Given the description of an element on the screen output the (x, y) to click on. 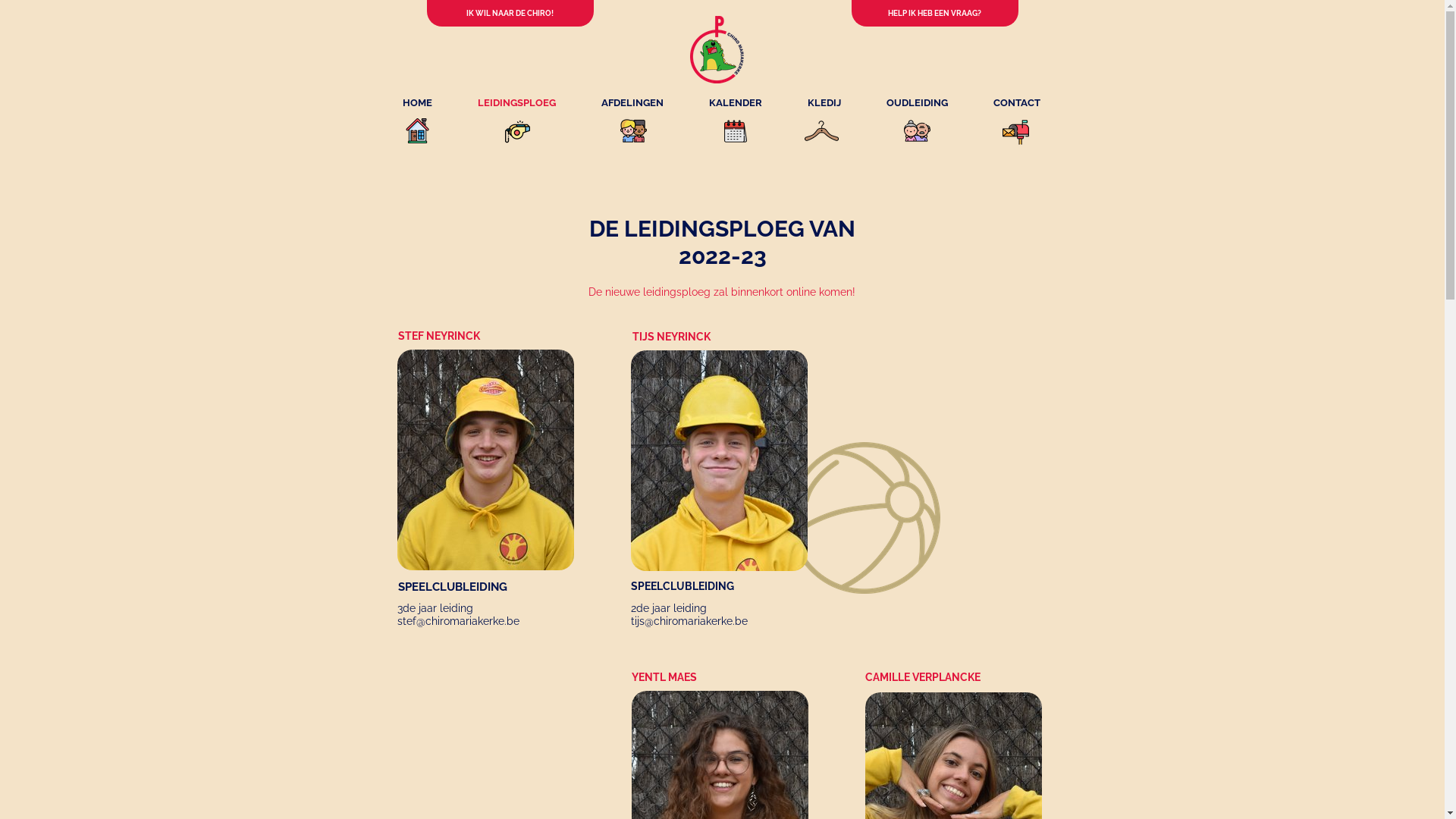
AFDELINGEN Element type: text (632, 101)
IK WIL NAAR DE CHIRO! Element type: text (509, 13)
CONTACT Element type: text (1016, 101)
OUDLEIDING Element type: text (916, 101)
KALENDER Element type: text (735, 101)
HELP IK HEB EEN VRAAG? Element type: text (933, 13)
HOME Element type: text (417, 101)
KLEDIJ Element type: text (823, 101)
LEIDINGSPLOEG Element type: text (516, 101)
